Given the description of an element on the screen output the (x, y) to click on. 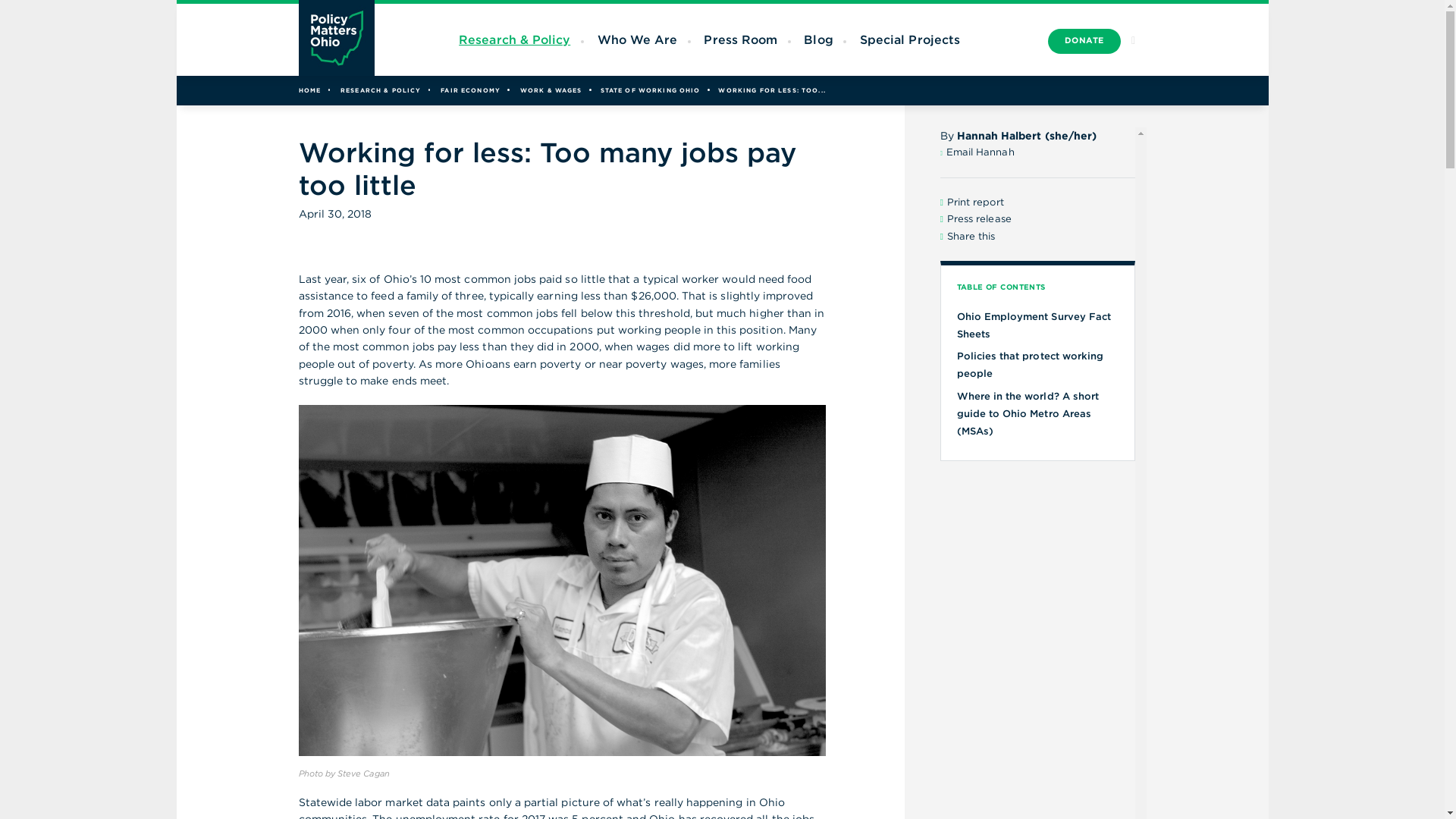
Press Room (740, 39)
Who We Are (637, 39)
Blog (817, 39)
Press Room (740, 39)
Who We Are (637, 39)
Special Projects (909, 39)
DONATE (1084, 41)
